Given the description of an element on the screen output the (x, y) to click on. 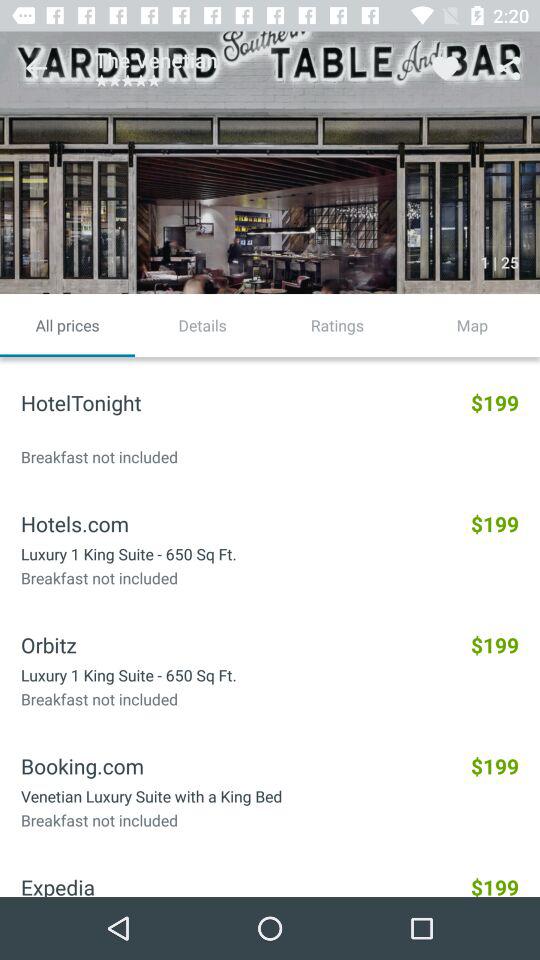
click item next to the all prices icon (202, 325)
